Given the description of an element on the screen output the (x, y) to click on. 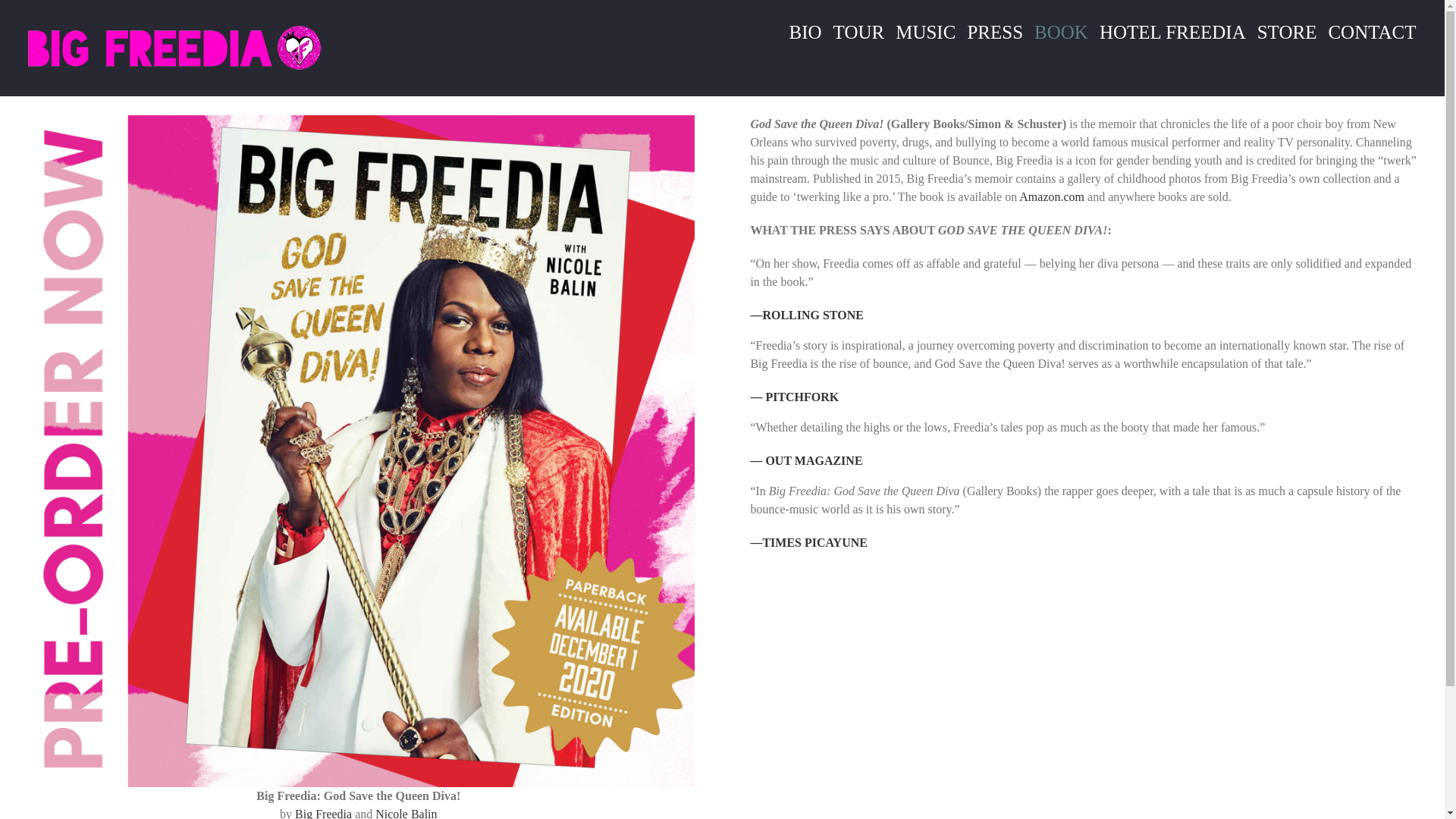
BOOK (1061, 31)
MUSIC (924, 31)
BIO (805, 31)
PRESS (994, 31)
CONTACT (1372, 31)
STORE (1286, 31)
HOTEL FREEDIA (1171, 31)
TOUR (858, 31)
